Given the description of an element on the screen output the (x, y) to click on. 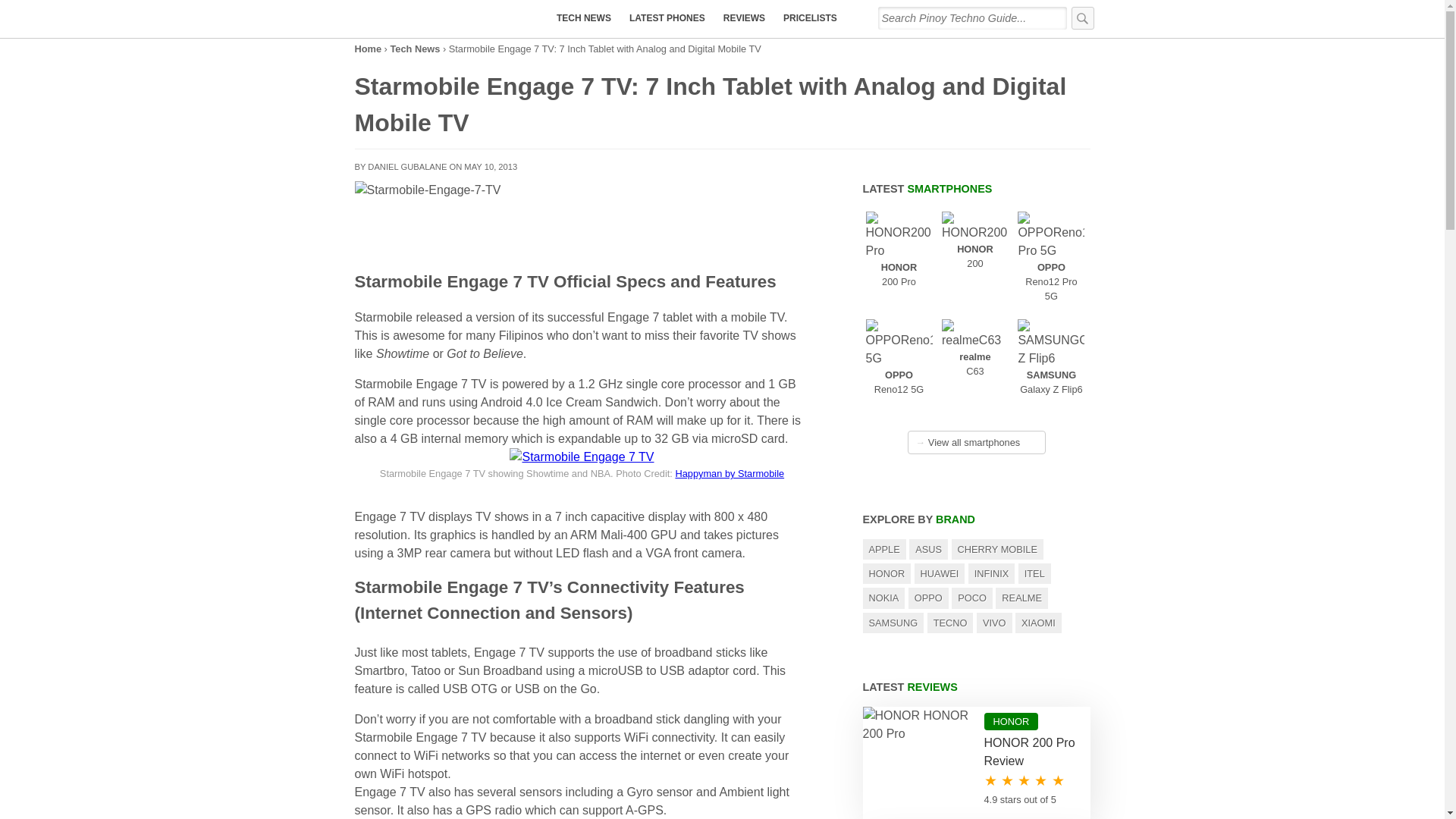
Tech News (414, 48)
REVIEWS (1055, 273)
TECH NEWS (744, 18)
CHERRY MOBILE (583, 18)
Starmobile Engage 7 TV (997, 548)
PRICELISTS (581, 456)
LATEST SMARTPHONES (809, 18)
LATEST PHONES (899, 266)
Home (904, 374)
INFINIX (927, 188)
Happyman by Starmobile (667, 18)
Full specs of realme C63 (368, 48)
